Given the description of an element on the screen output the (x, y) to click on. 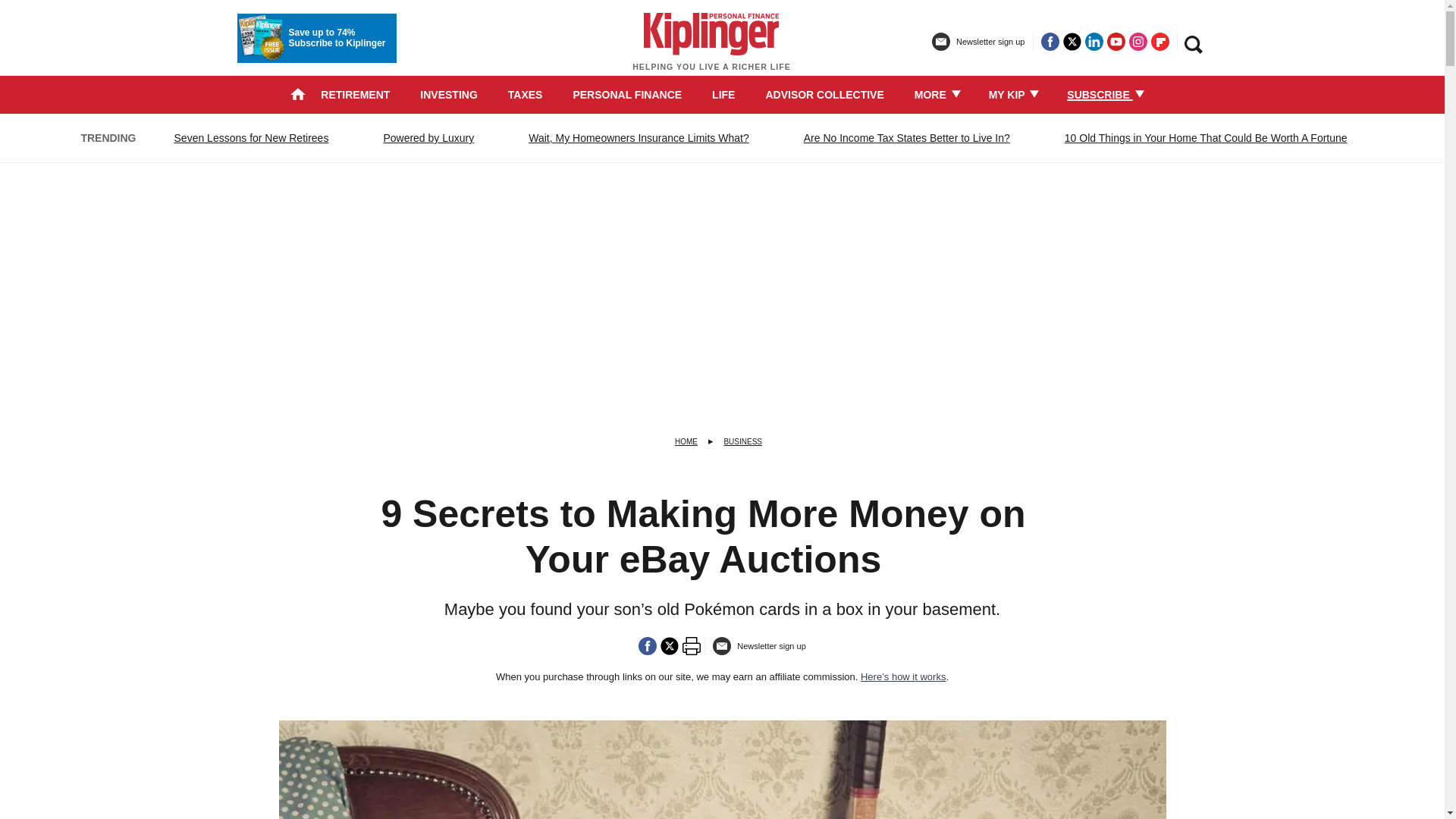
TAXES (525, 94)
LIFE (723, 94)
PERSONAL FINANCE (626, 94)
HELPING YOU LIVE A RICHER LIFE (710, 48)
INVESTING (448, 94)
RETIREMENT (355, 94)
